Given the description of an element on the screen output the (x, y) to click on. 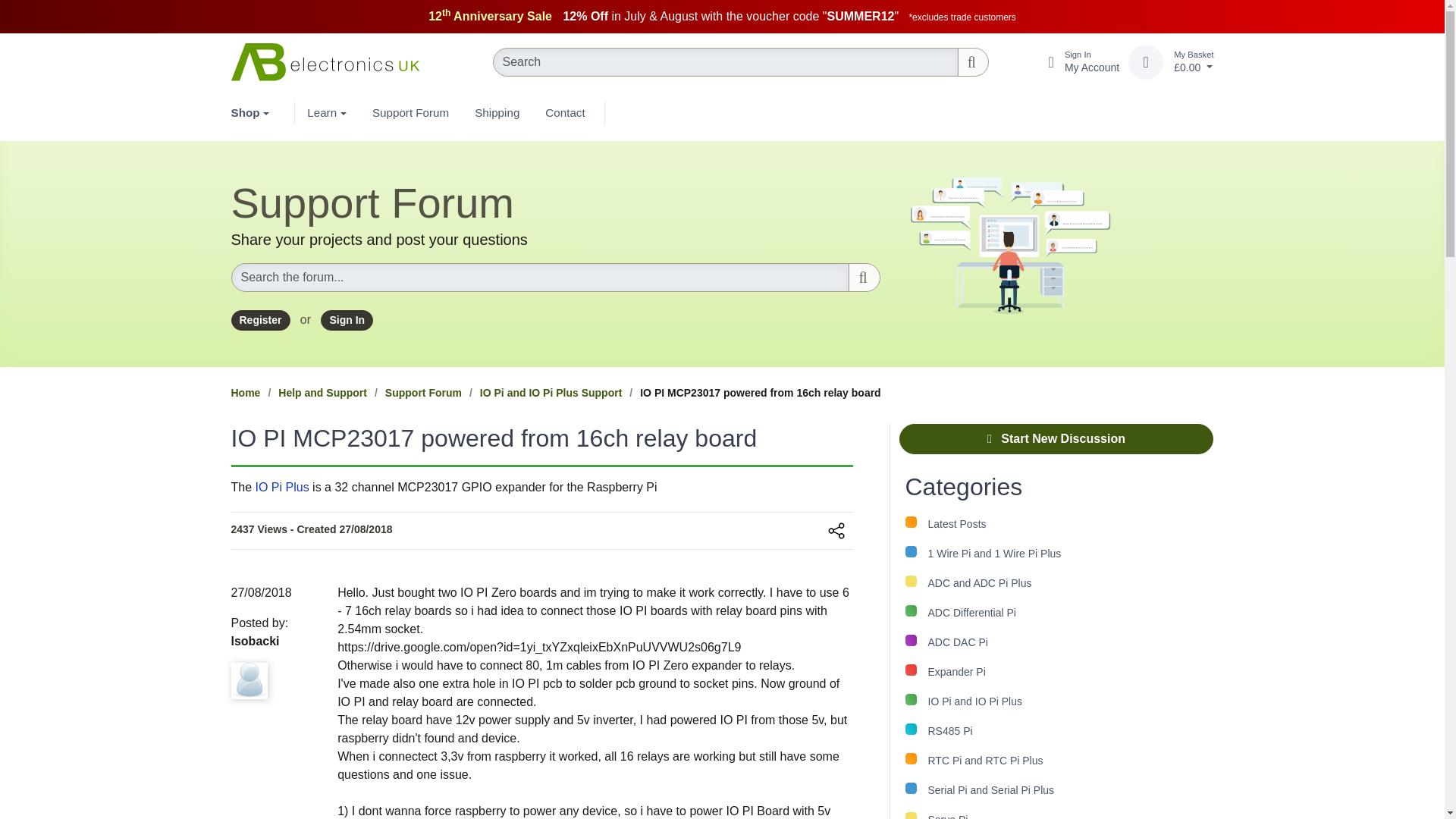
Share (1069, 62)
My Account (823, 530)
12th Anniversary Sale (1069, 62)
Shop (493, 15)
Learn (252, 112)
